Given the description of an element on the screen output the (x, y) to click on. 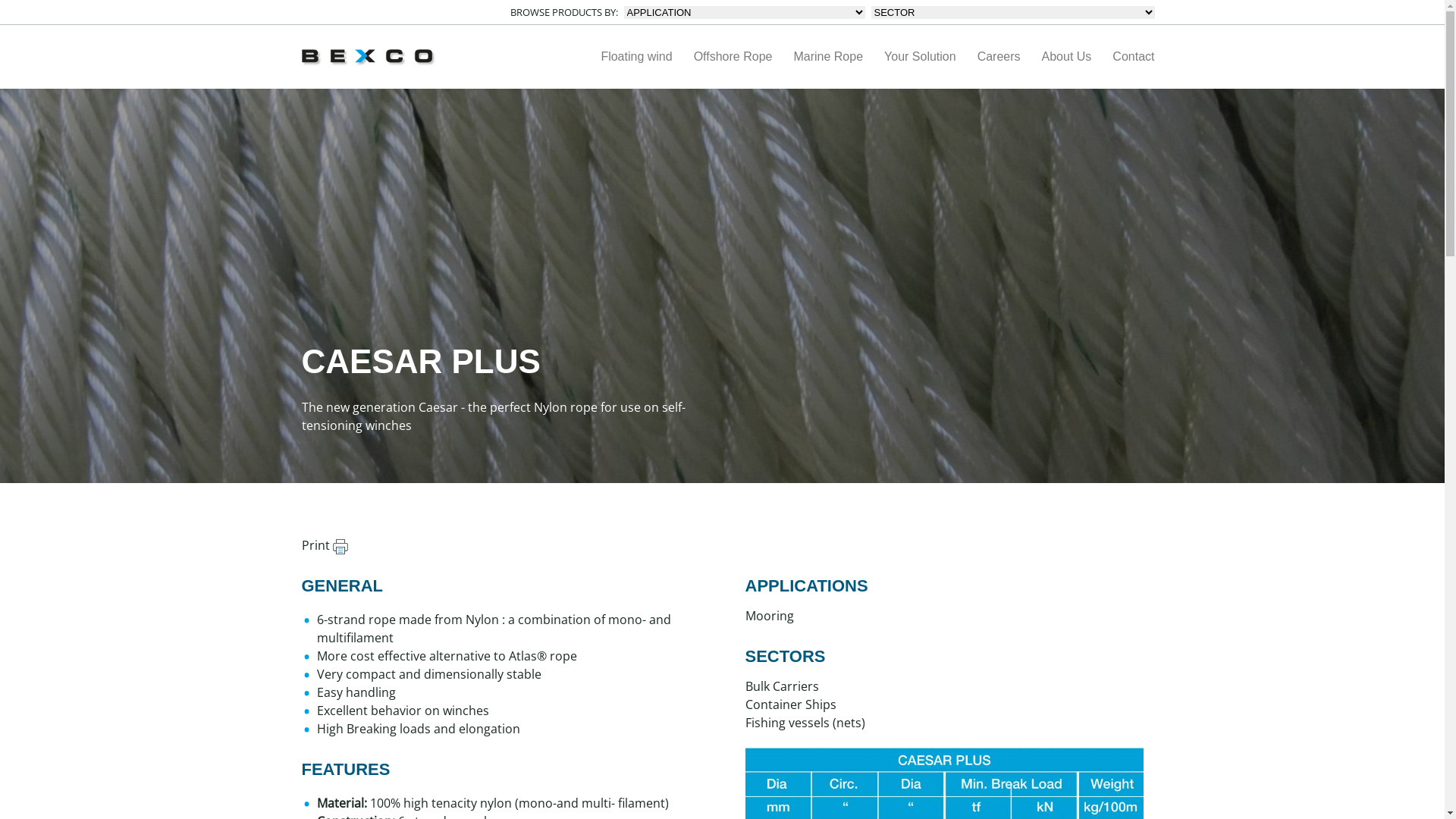
About Us Element type: text (1066, 56)
Offshore Rope Element type: text (732, 56)
Marine Rope Element type: text (827, 56)
Floating wind Element type: text (635, 56)
Contact Element type: text (1133, 56)
Your Solution Element type: text (920, 56)
Print Element type: text (324, 544)
Careers Element type: text (998, 56)
